Given the description of an element on the screen output the (x, y) to click on. 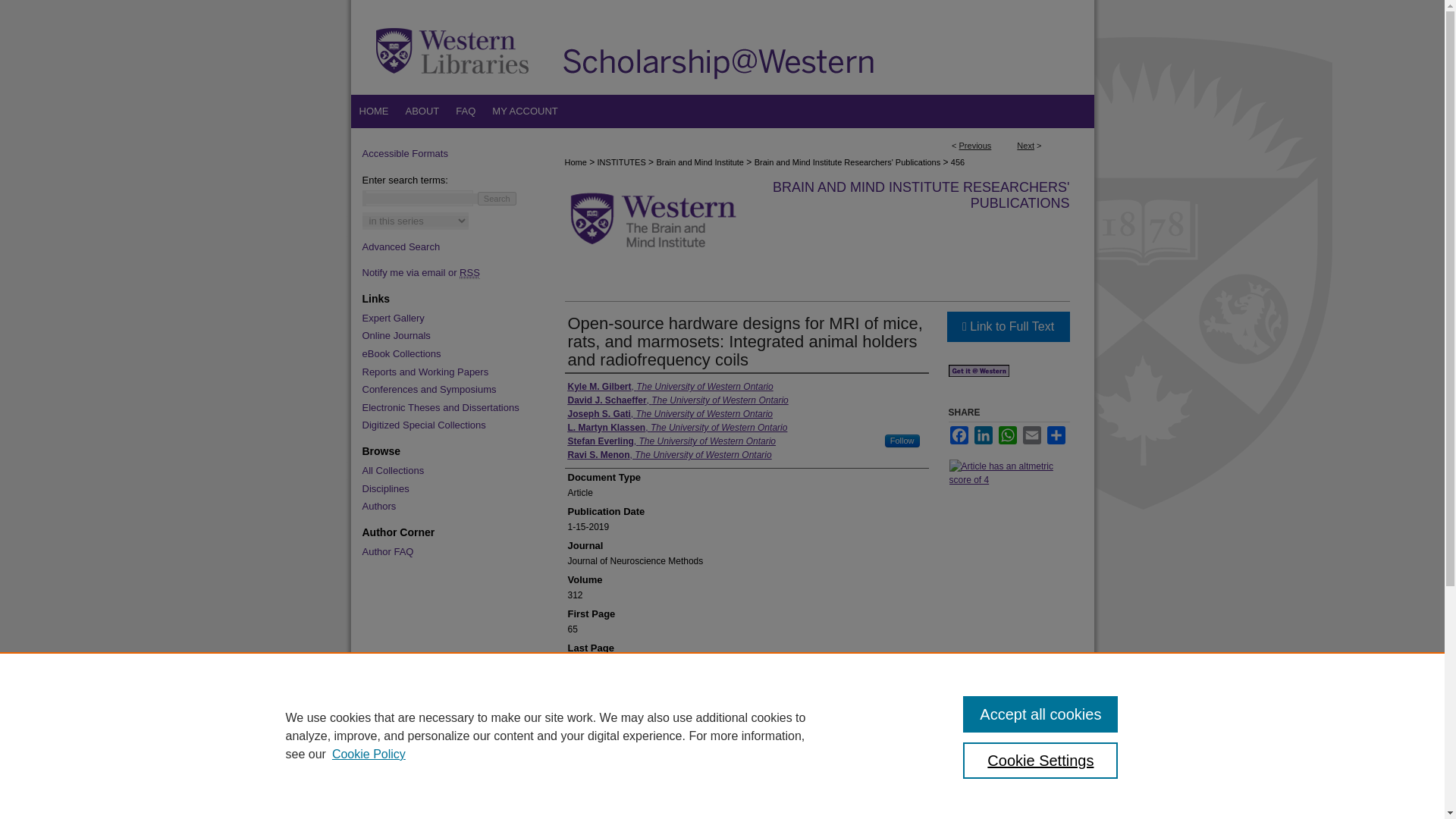
BRAIN AND MIND INSTITUTE RESEARCHERS' PUBLICATIONS (920, 194)
Home (373, 111)
ABOUT (422, 111)
My Account (524, 111)
Expert Gallery (447, 318)
FAQ (464, 111)
HOME (373, 111)
456 (956, 162)
Brain and Mind Institute (700, 162)
Link to Full Text (1007, 327)
Email or RSS Notifications (447, 272)
Home (575, 162)
Email (1031, 434)
WhatsApp (1006, 434)
Kyle M. Gilbert, The University of Western Ontario (670, 386)
